Given the description of an element on the screen output the (x, y) to click on. 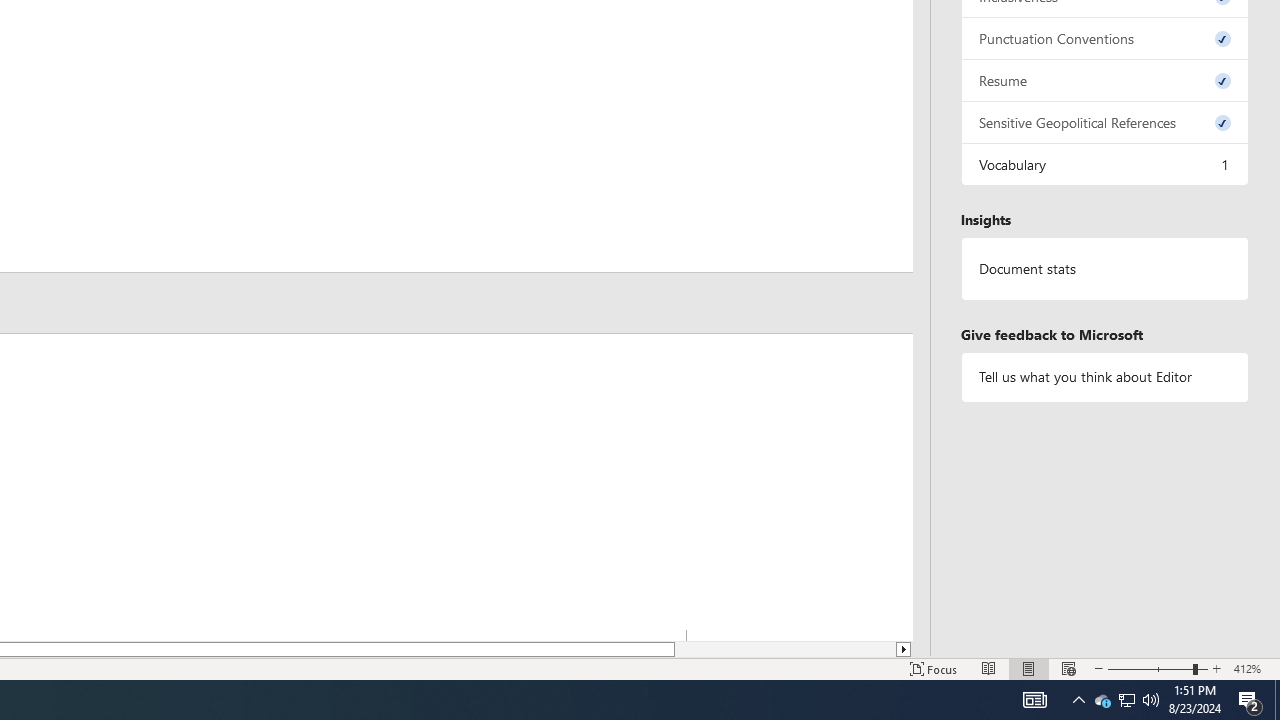
Page right (785, 649)
Notification Chevron (1078, 699)
AutomationID: 4105 (1034, 699)
Show desktop (1277, 699)
Tell us what you think about Editor (1105, 376)
Q2790: 100% (1151, 699)
Vocabulary, 1 issue. Press space or enter to review items. (1126, 699)
Action Center, 2 new notifications (1105, 164)
Resume, 0 issues. Press space or enter to review items. (1250, 699)
Document statistics (1105, 79)
